Given the description of an element on the screen output the (x, y) to click on. 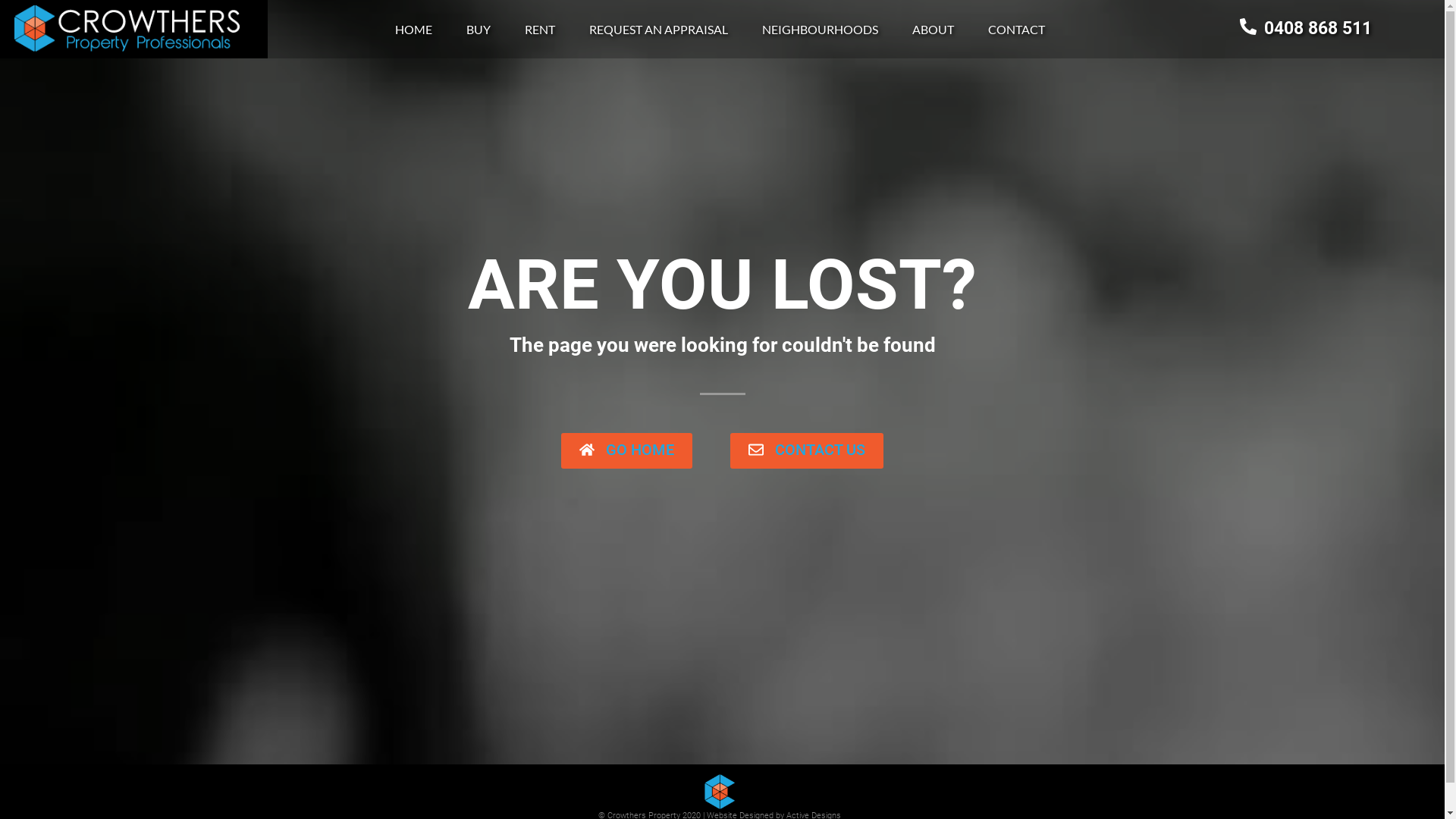
RENT Element type: text (539, 29)
CONTACT US Element type: text (806, 450)
HOME Element type: text (413, 29)
CONTACT Element type: text (1016, 29)
REQUEST AN APPRAISAL Element type: text (658, 29)
ABOUT Element type: text (933, 29)
GO HOME Element type: text (626, 450)
BUY Element type: text (478, 29)
NEIGHBOURHOODS Element type: text (819, 29)
